Given the description of an element on the screen output the (x, y) to click on. 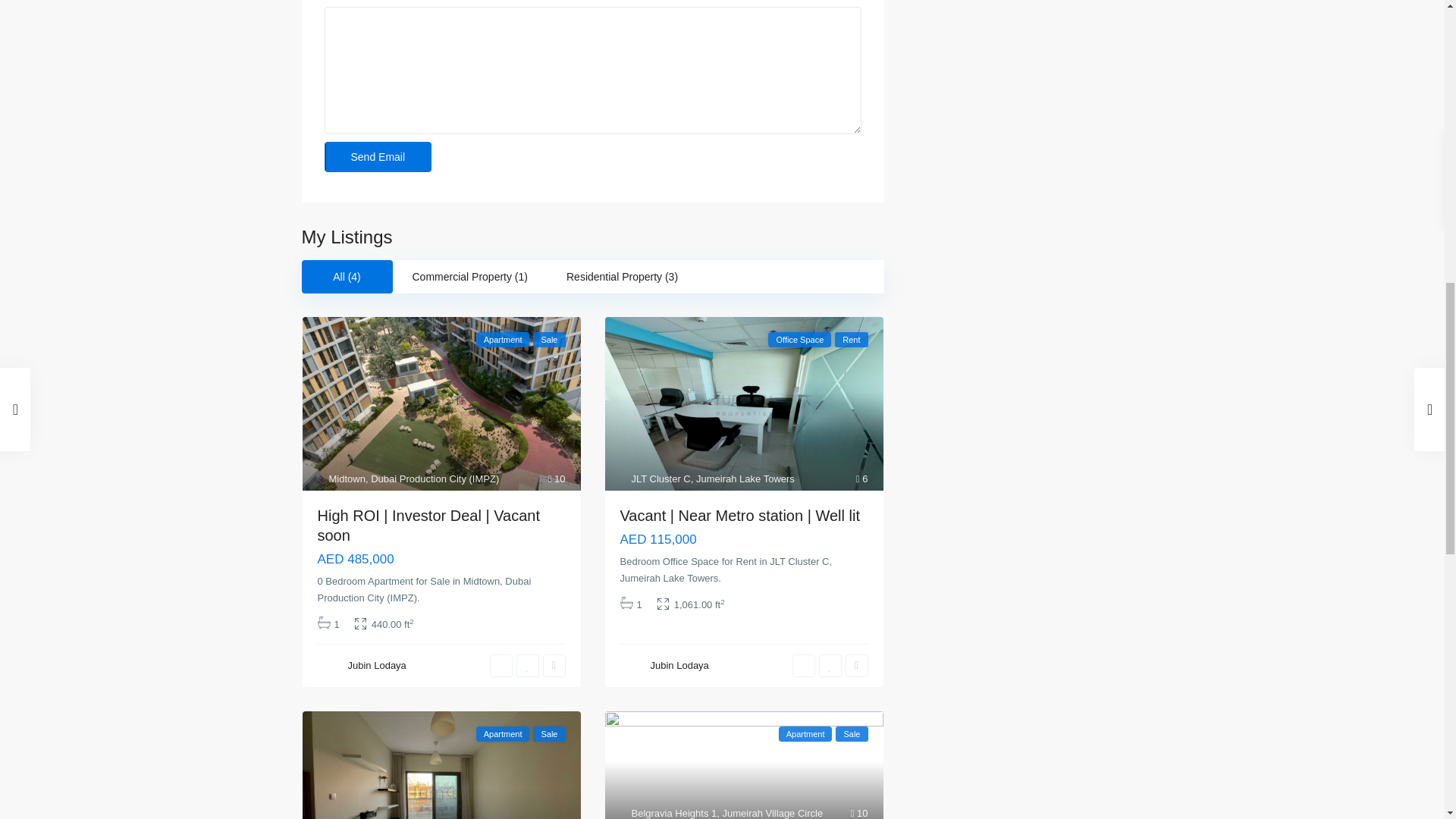
Send Email (378, 156)
